Given the description of an element on the screen output the (x, y) to click on. 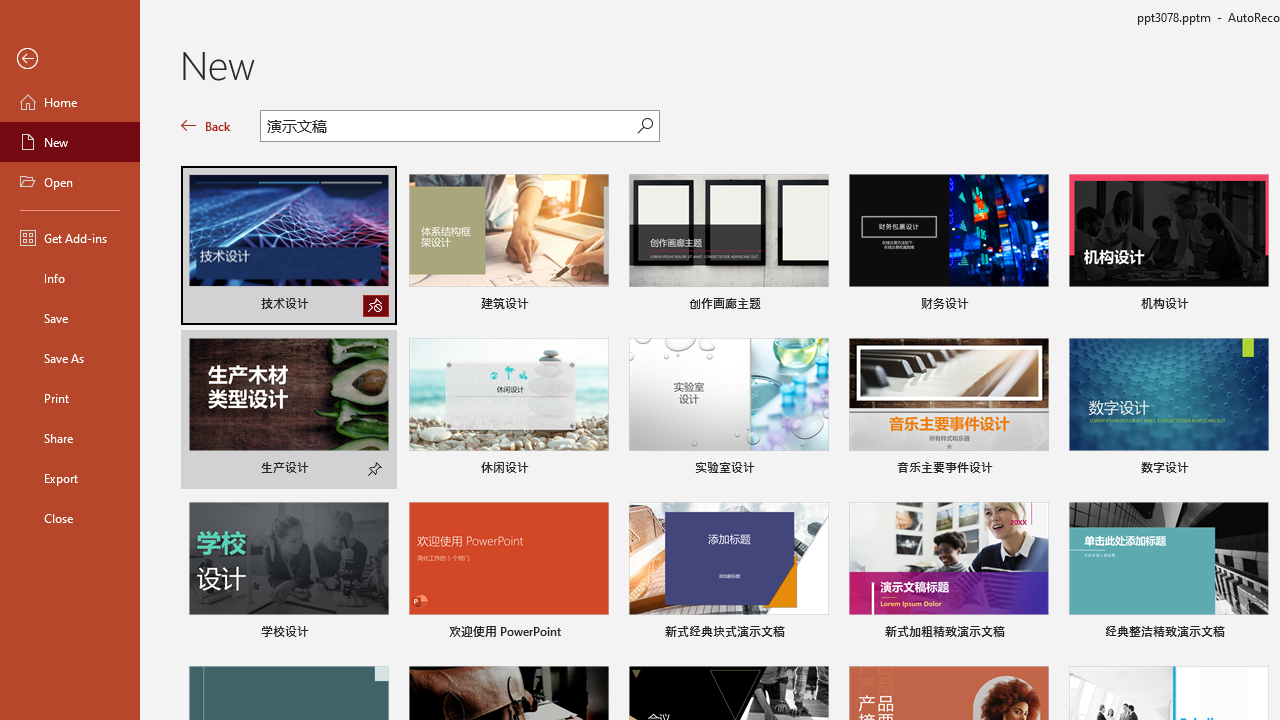
Back (69, 59)
Print (69, 398)
